Given the description of an element on the screen output the (x, y) to click on. 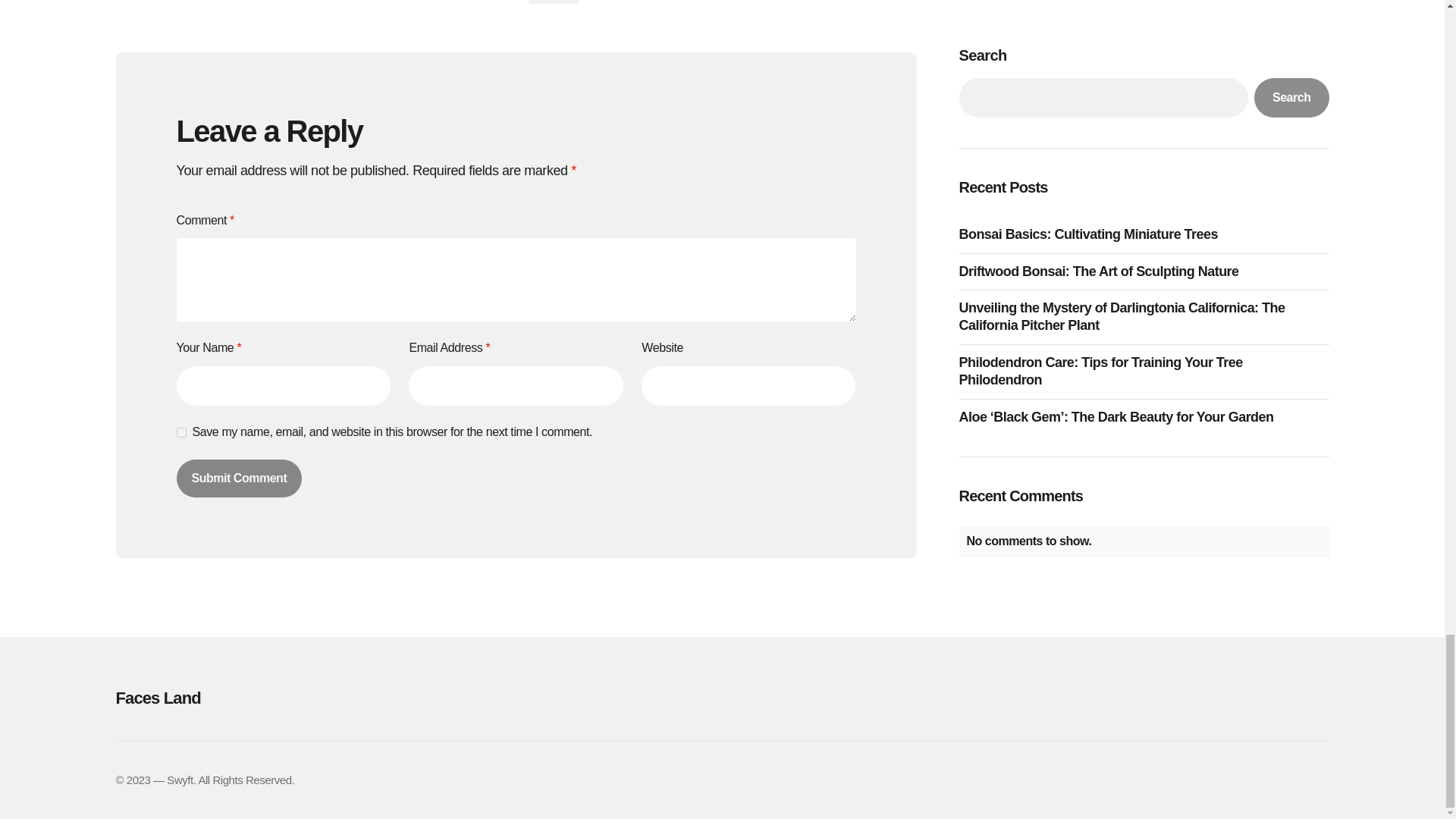
Submit Comment (238, 478)
Bonsai (552, 2)
yes (181, 432)
Faces Land (305, 697)
